Given the description of an element on the screen output the (x, y) to click on. 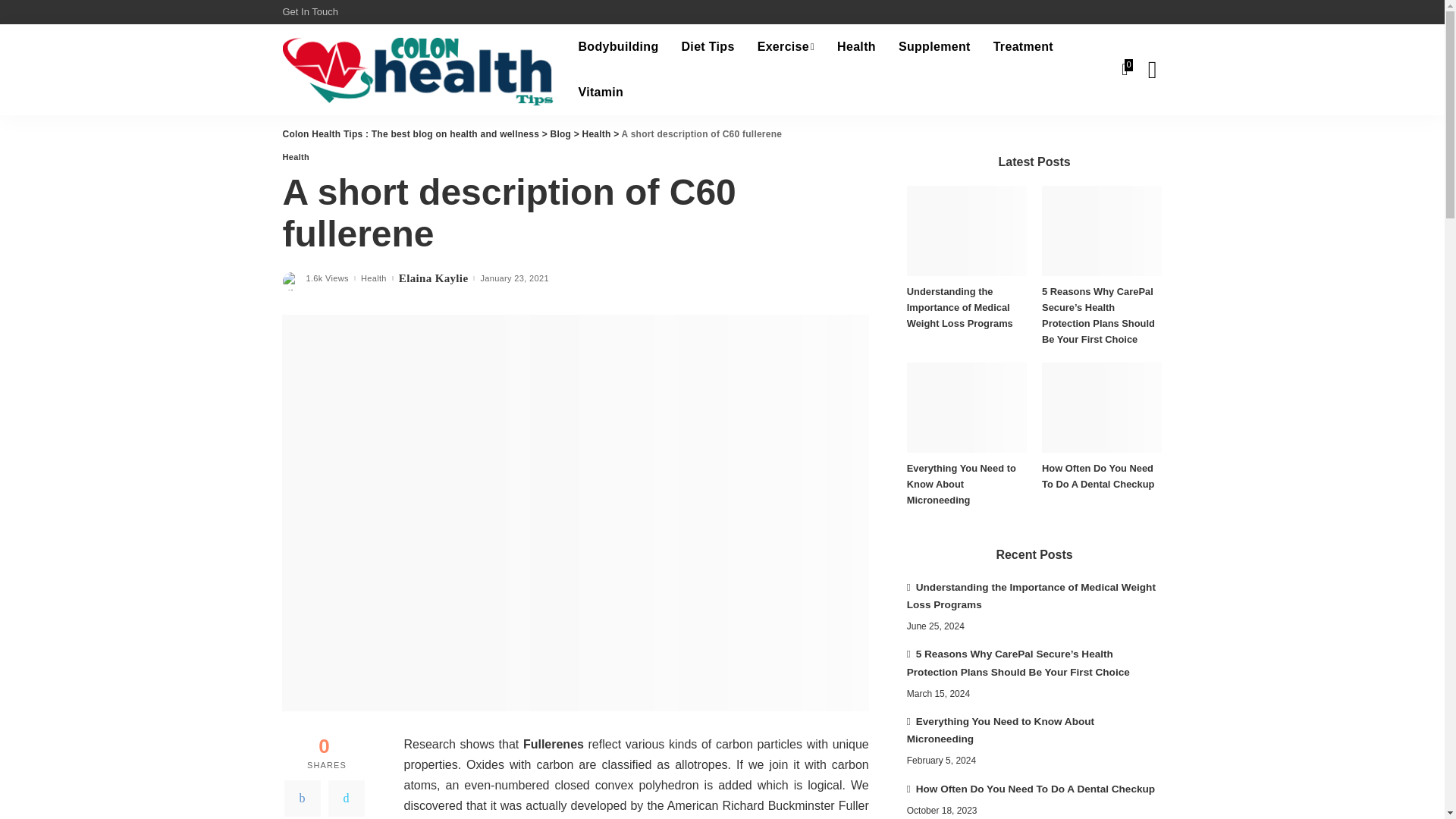
Exercise (785, 46)
Vitamin (600, 92)
Supplement (933, 46)
Bodybuilding (617, 46)
Get In Touch (312, 11)
Colon Health Tips : The best blog on health and wellness (418, 69)
Health (855, 46)
Diet Tips (707, 46)
Treatment (1022, 46)
